Given the description of an element on the screen output the (x, y) to click on. 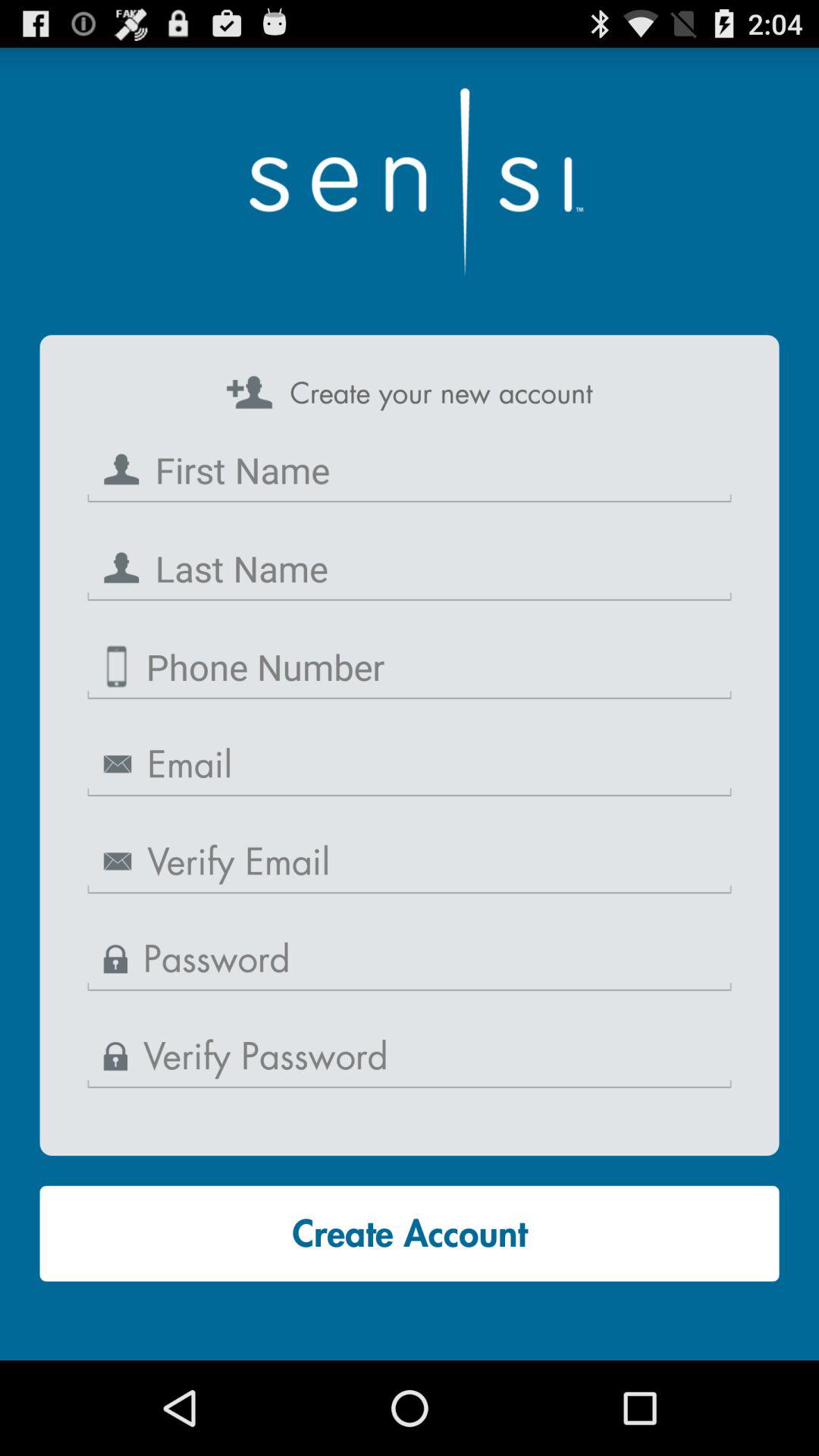
re enter password (409, 1056)
